Given the description of an element on the screen output the (x, y) to click on. 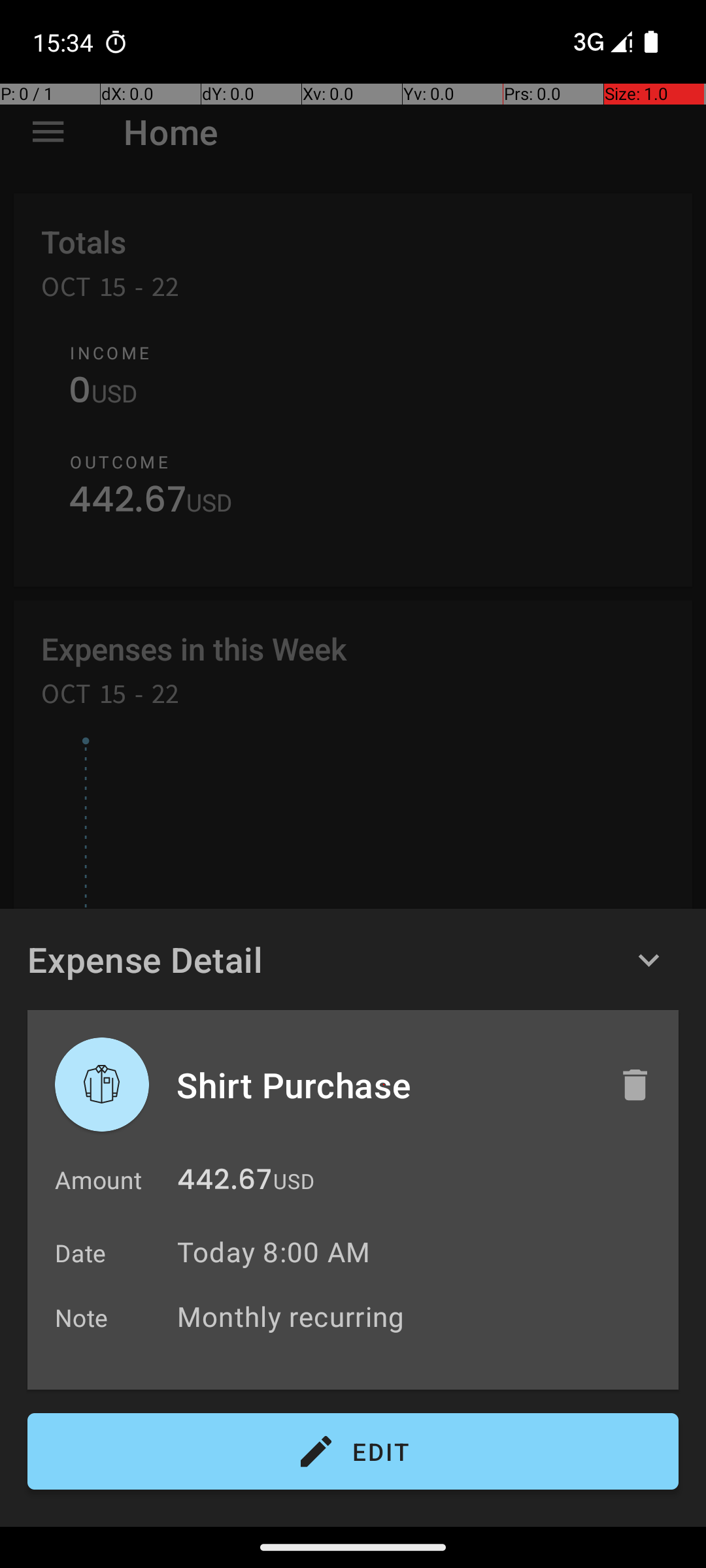
442.67 Element type: android.widget.TextView (224, 1182)
Today 8:00 AM Element type: android.widget.TextView (273, 1251)
